Given the description of an element on the screen output the (x, y) to click on. 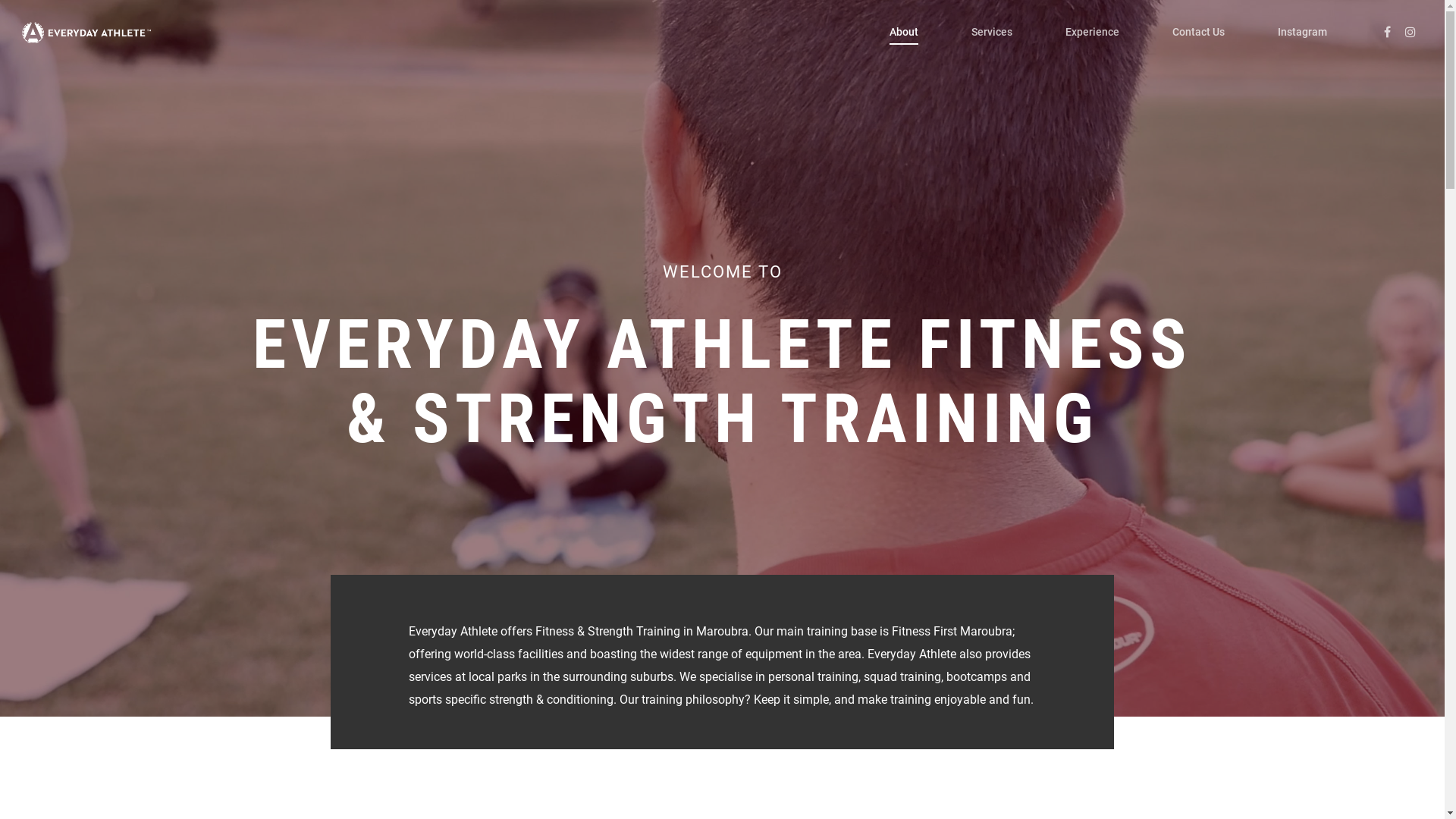
Experience Element type: text (1092, 43)
Contact Us Element type: text (1198, 43)
About Element type: text (903, 43)
Services Element type: text (991, 43)
Instagram Element type: text (1302, 43)
